Given the description of an element on the screen output the (x, y) to click on. 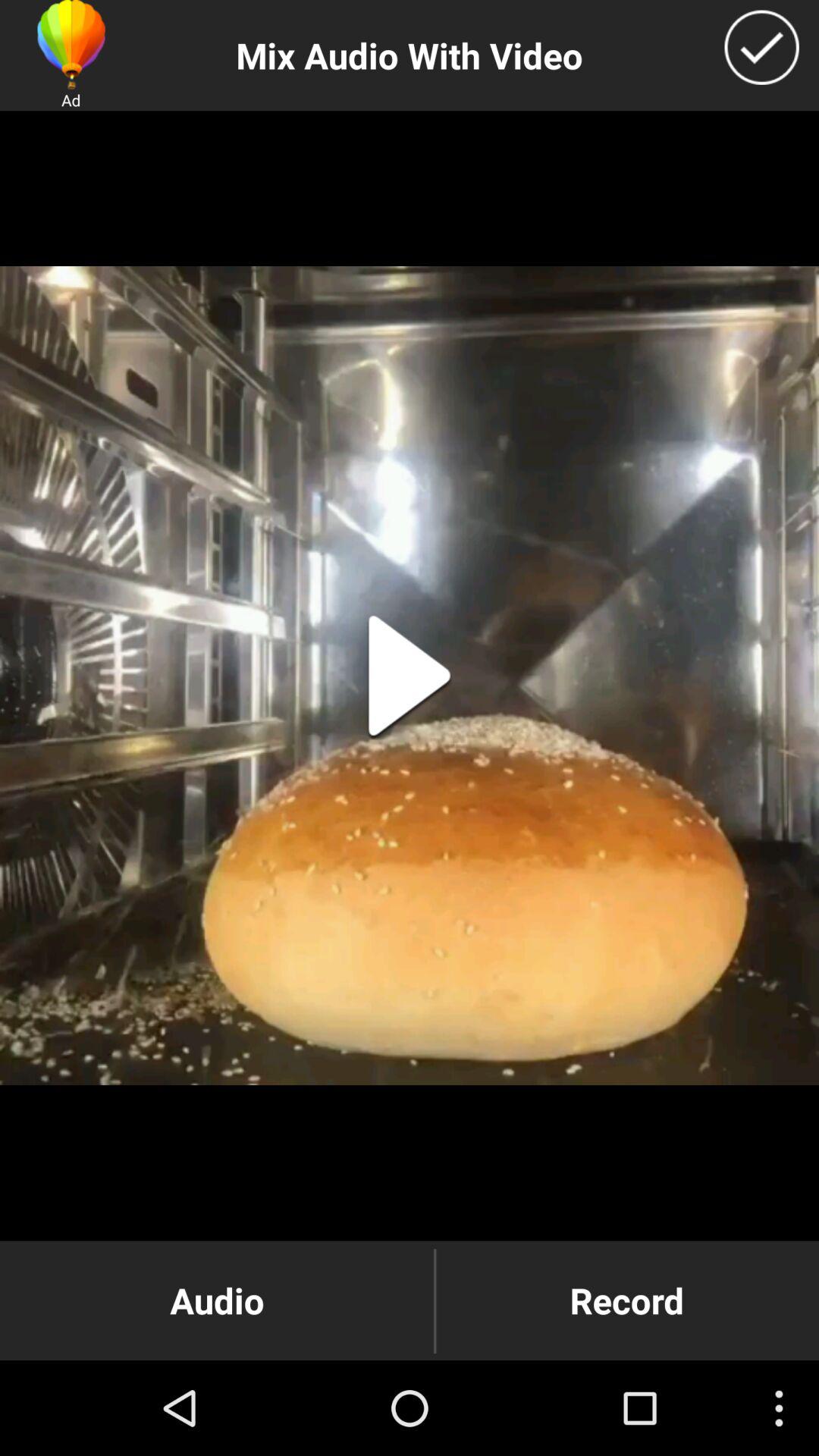
play the song (409, 675)
